Given the description of an element on the screen output the (x, y) to click on. 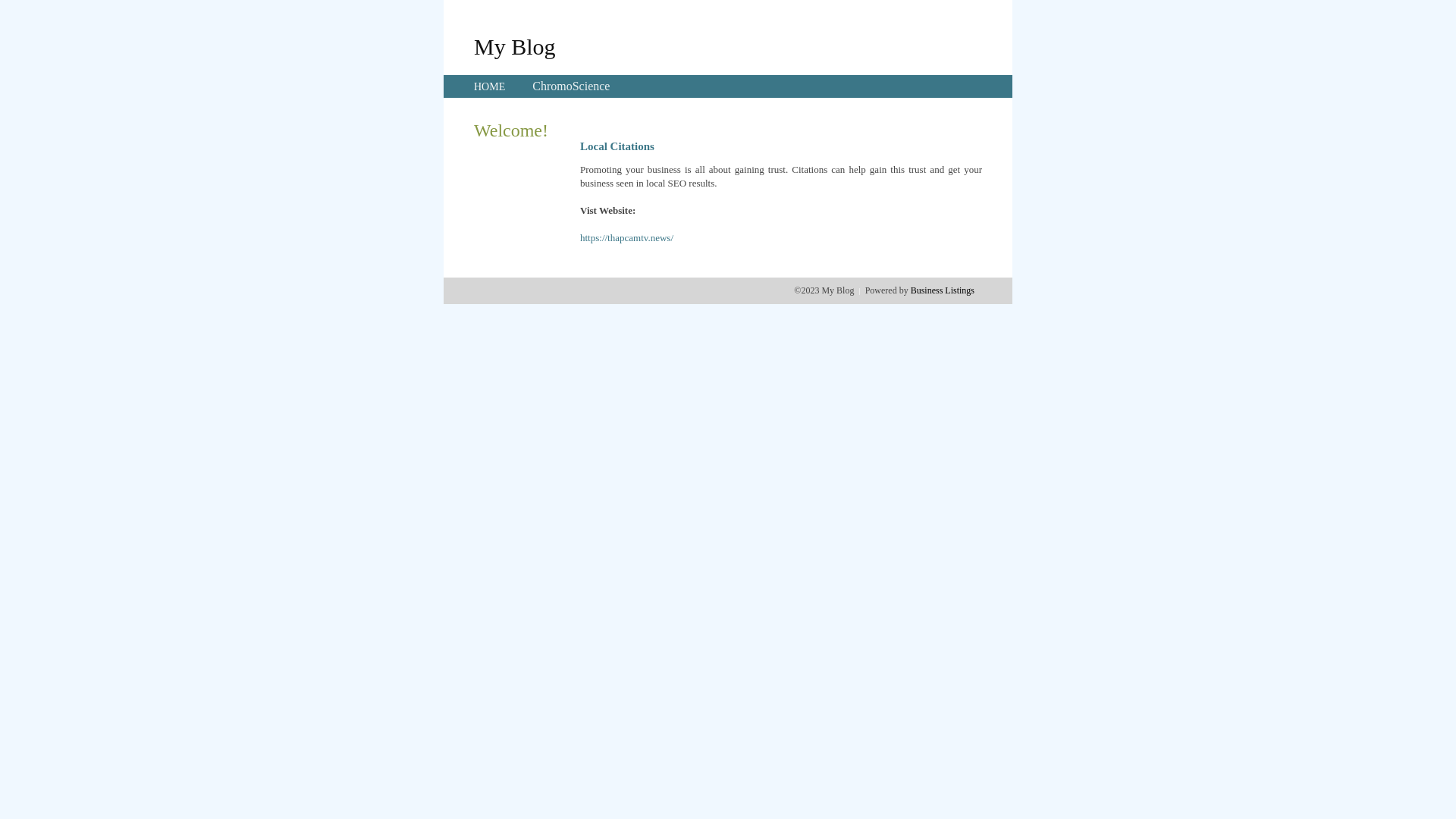
My Blog Element type: text (514, 46)
ChromoScience Element type: text (570, 85)
Business Listings Element type: text (942, 290)
HOME Element type: text (489, 86)
https://thapcamtv.news/ Element type: text (626, 237)
